Given the description of an element on the screen output the (x, y) to click on. 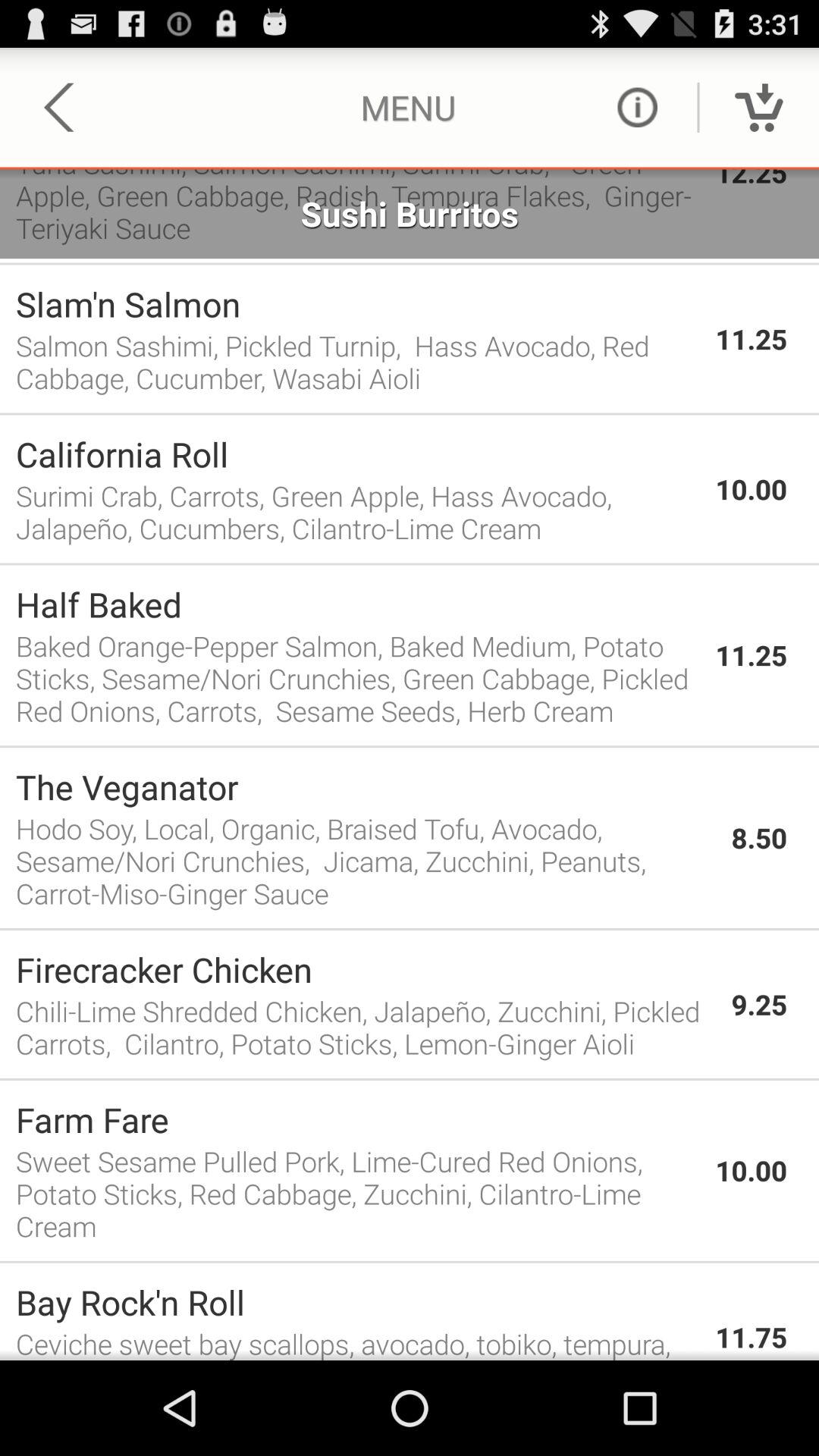
scroll to the firecracker chicken (365, 969)
